Given the description of an element on the screen output the (x, y) to click on. 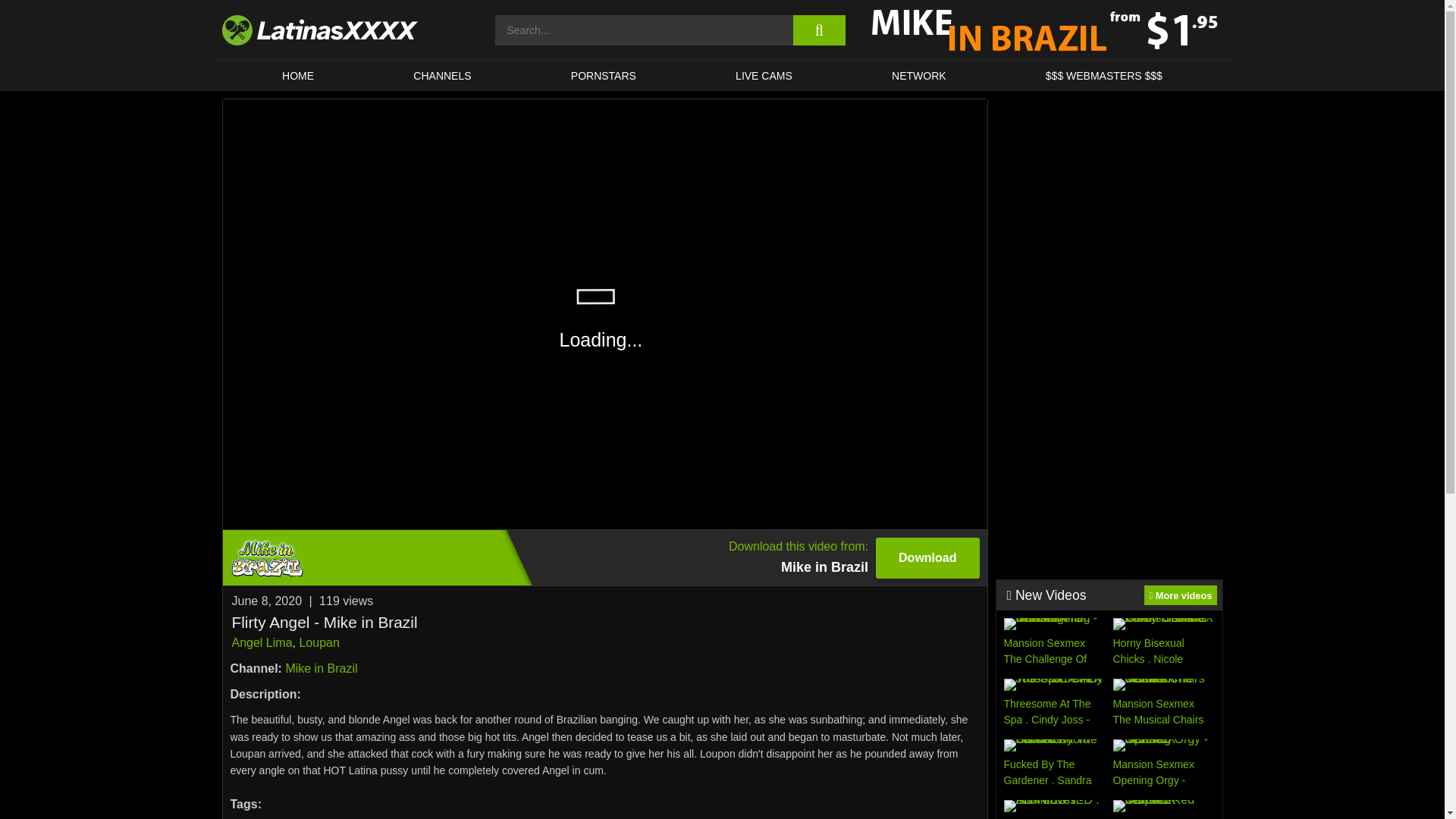
HOME (296, 75)
NETWORK (918, 75)
Loupan (318, 642)
LIVE CAMS (763, 75)
Mike in Brazil (320, 667)
Angel Lima (604, 557)
PORNSTARS (261, 642)
CHANNELS (603, 75)
